Given the description of an element on the screen output the (x, y) to click on. 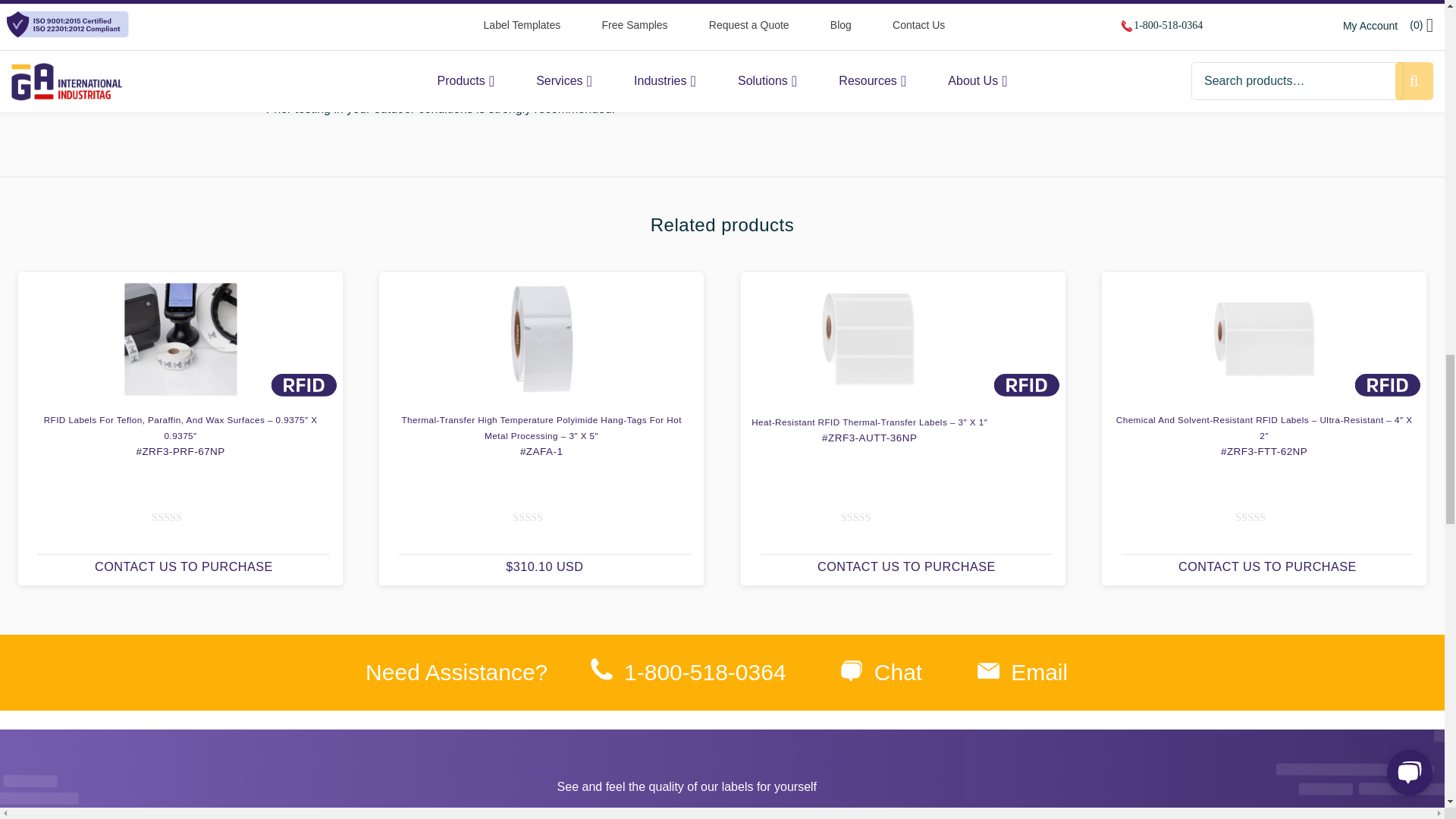
Not yet rated (183, 517)
Not yet rated (544, 517)
